Given the description of an element on the screen output the (x, y) to click on. 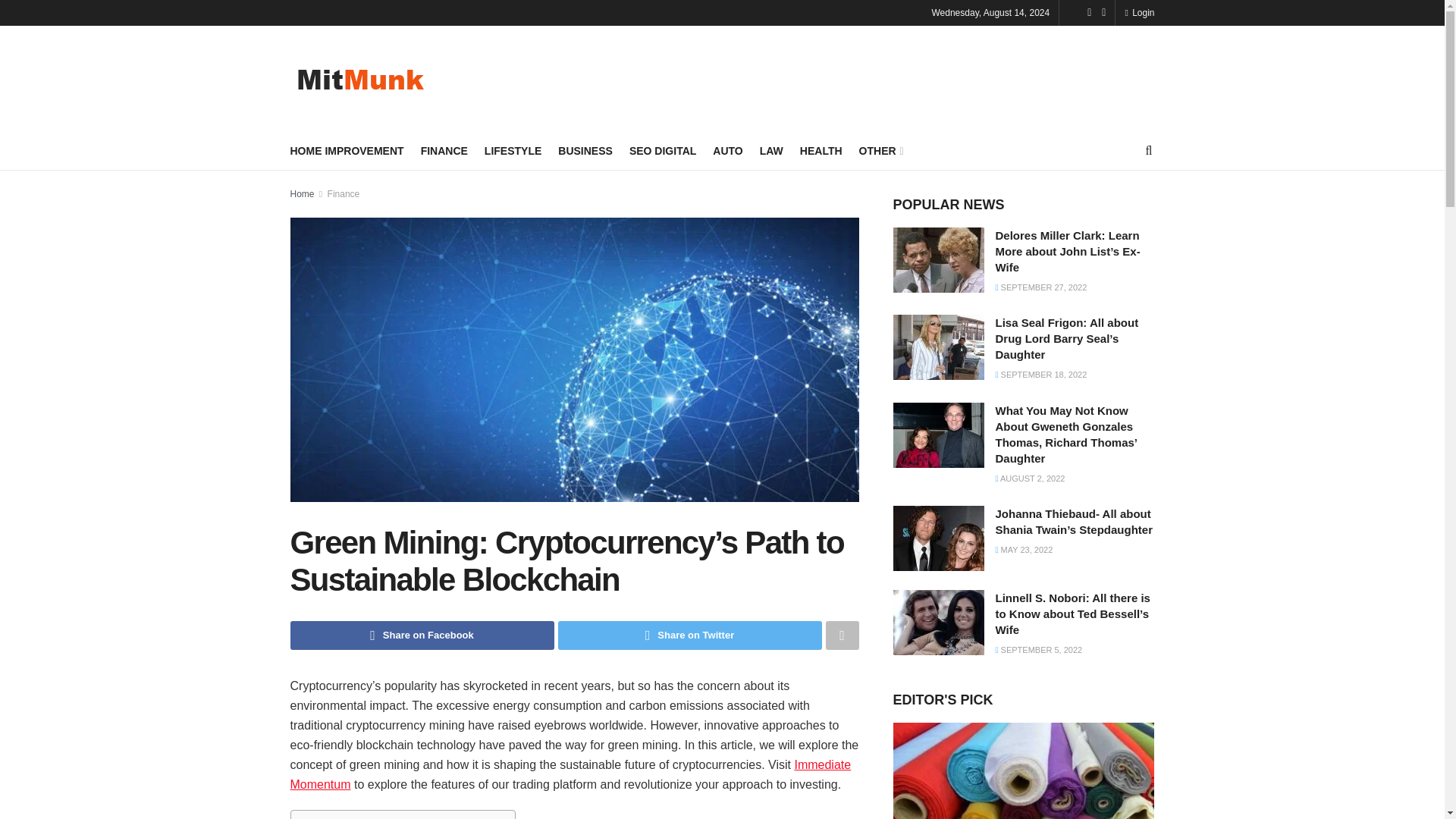
AUTO (727, 150)
FINANCE (443, 150)
LIFESTYLE (512, 150)
BUSINESS (584, 150)
LAW (771, 150)
SEO DIGITAL (661, 150)
HOME IMPROVEMENT (346, 150)
HEALTH (821, 150)
OTHER (880, 150)
Login (1139, 12)
